Given the description of an element on the screen output the (x, y) to click on. 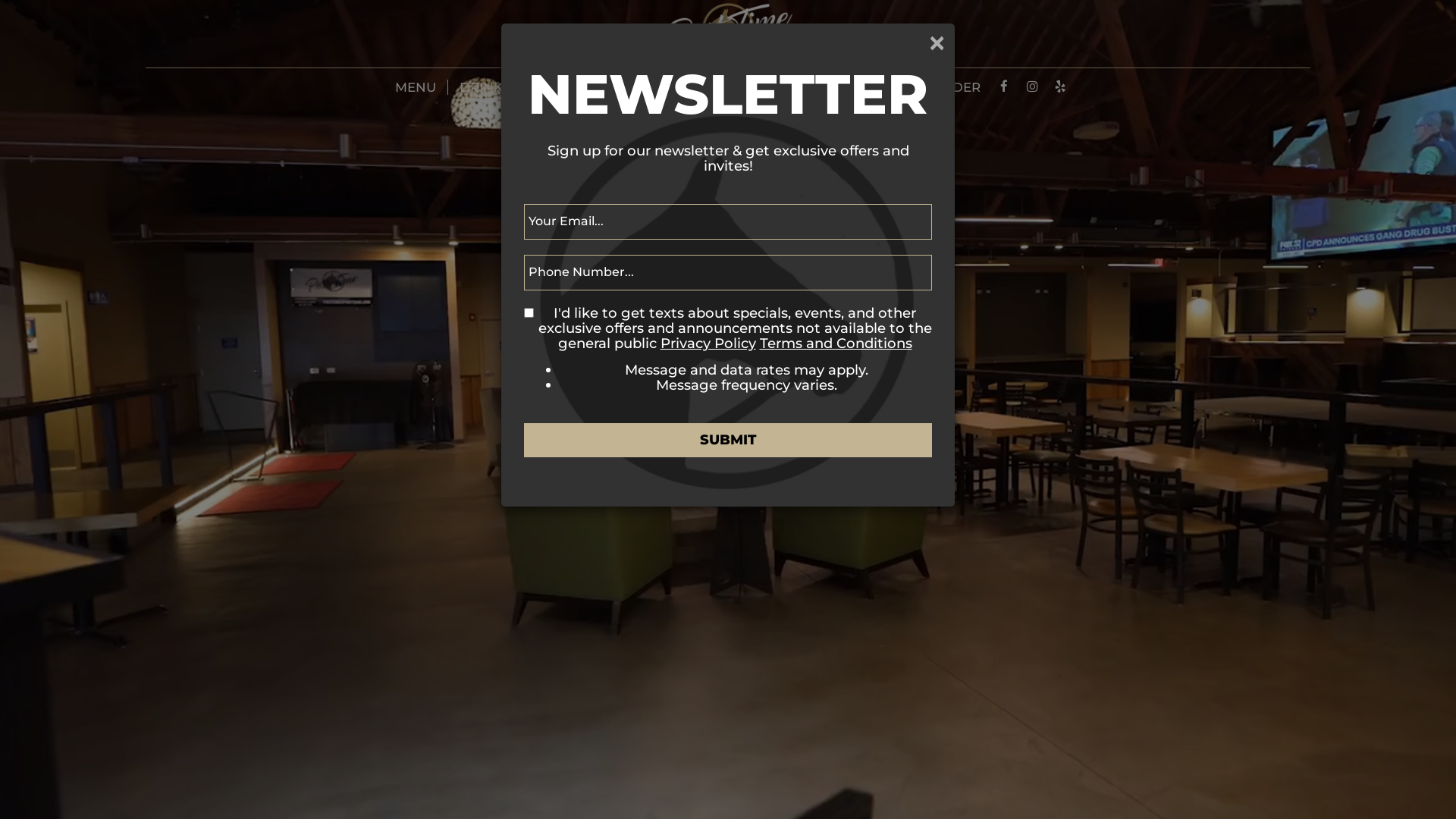
DRINKS Element type: text (485, 86)
PARTIES Element type: text (721, 86)
SUBMIT Element type: text (727, 440)
MENU Element type: text (415, 86)
ORDER Element type: text (956, 86)
EVENTS Element type: text (645, 86)
Privacy Policy Element type: text (707, 342)
Terms and Conditions Element type: text (835, 342)
SPECIALS Element type: text (565, 86)
JOBS Element type: text (891, 86)
GIFT CARDS Element type: text (811, 86)
